Given the description of an element on the screen output the (x, y) to click on. 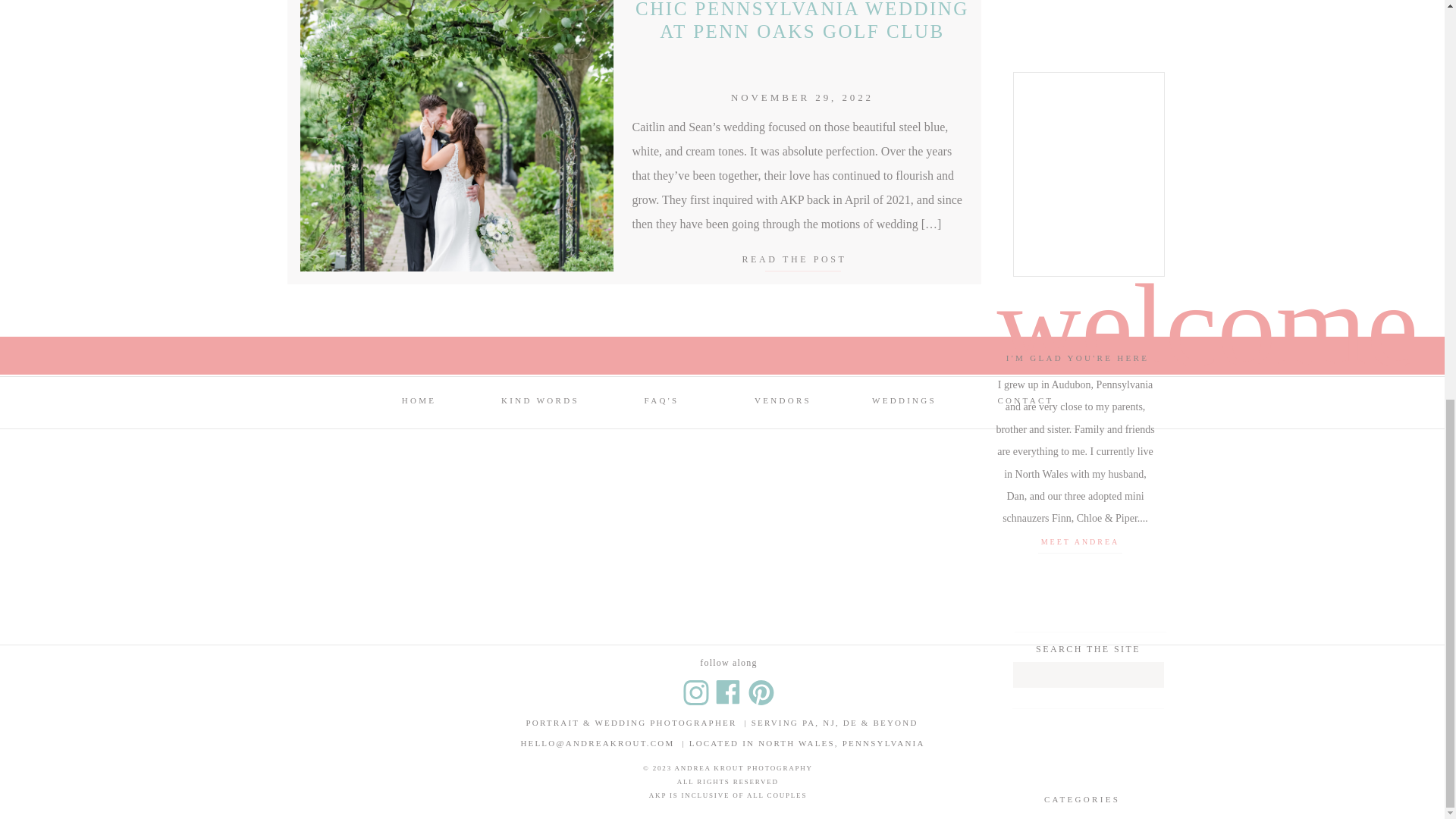
Facebook Copy-color Created with Sketch. (727, 692)
Chic Pennsylvania Wedding at Penn Oaks Golf Club (801, 258)
Page 1 Copy 2Created with Sketch. (759, 692)
READ THE POST (801, 258)
MEET ANDREA (1079, 542)
Instagram-color Created with Sketch. (695, 692)
